Given the description of an element on the screen output the (x, y) to click on. 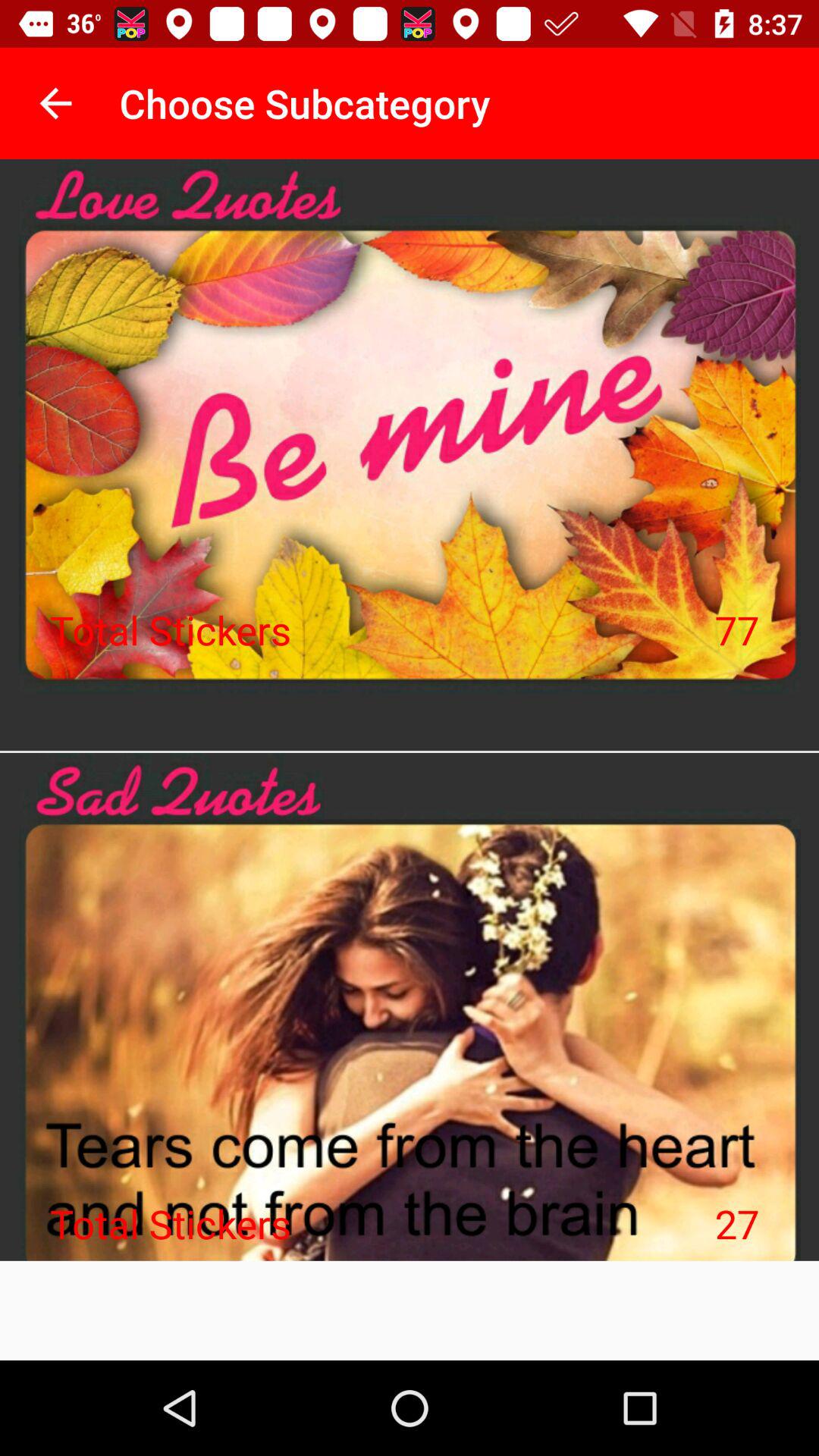
turn off the item on the right (736, 629)
